Given the description of an element on the screen output the (x, y) to click on. 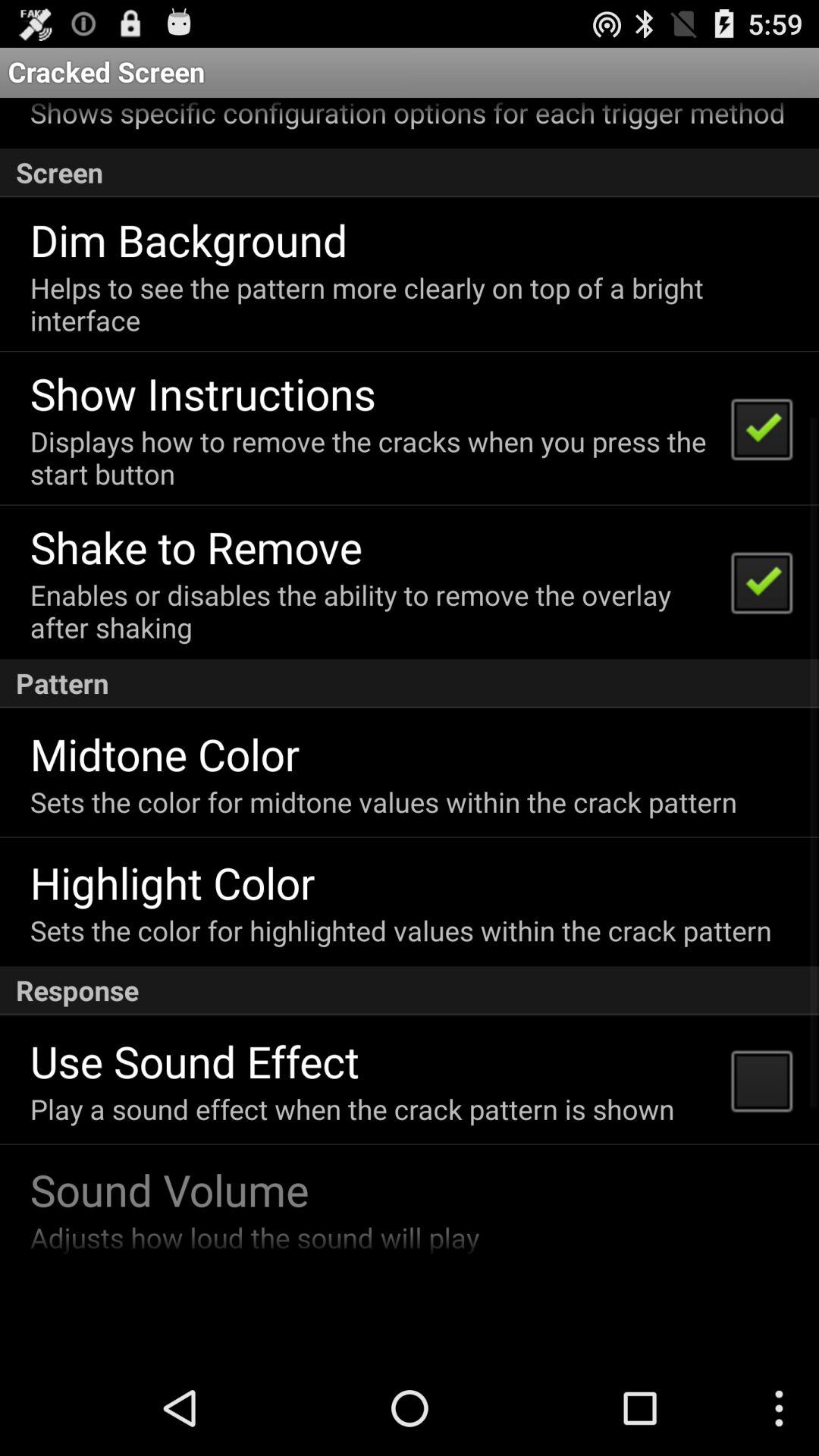
choose the icon below the show instructions item (370, 457)
